Given the description of an element on the screen output the (x, y) to click on. 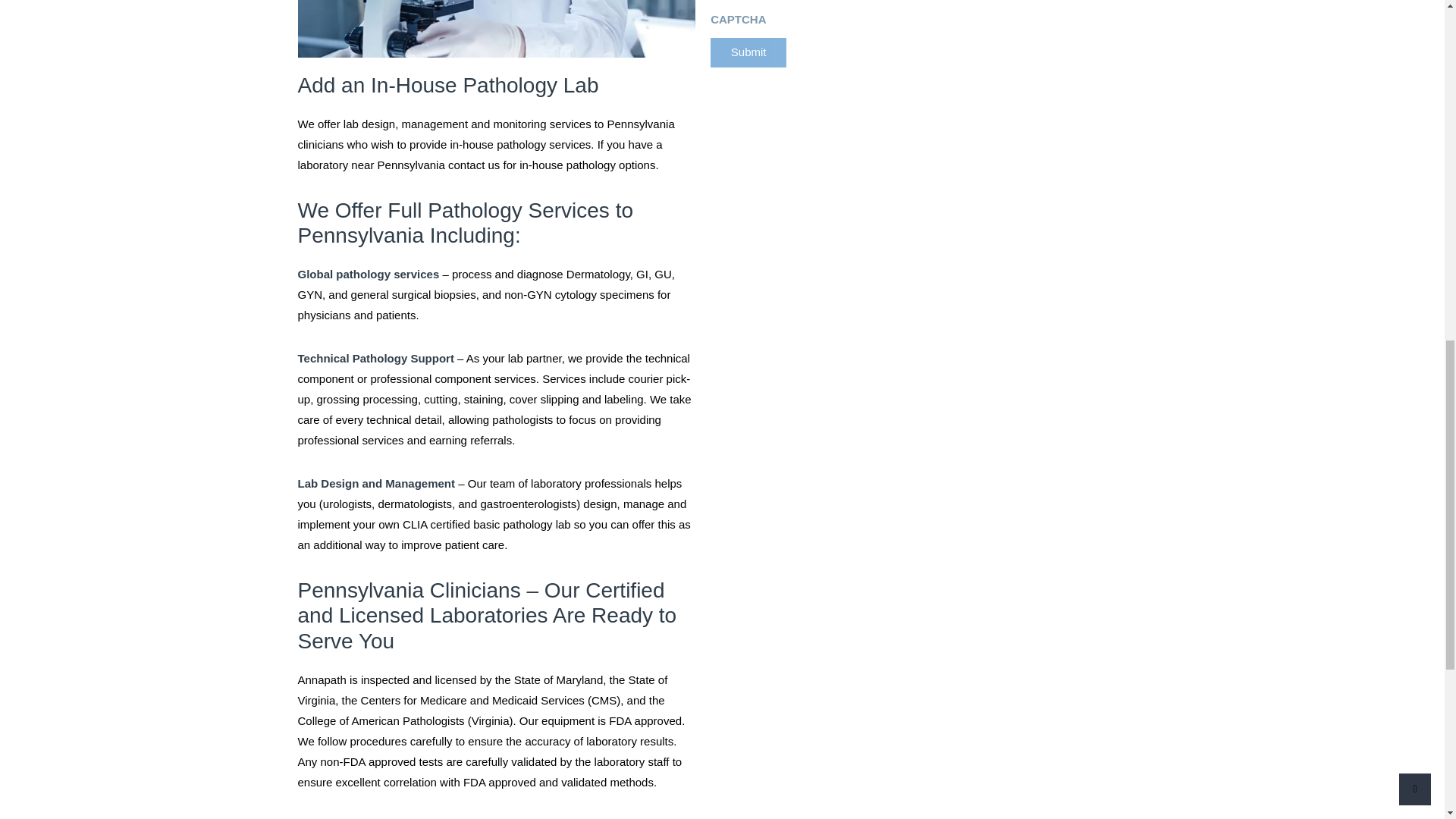
Submit (748, 52)
Submit (748, 52)
